Given the description of an element on the screen output the (x, y) to click on. 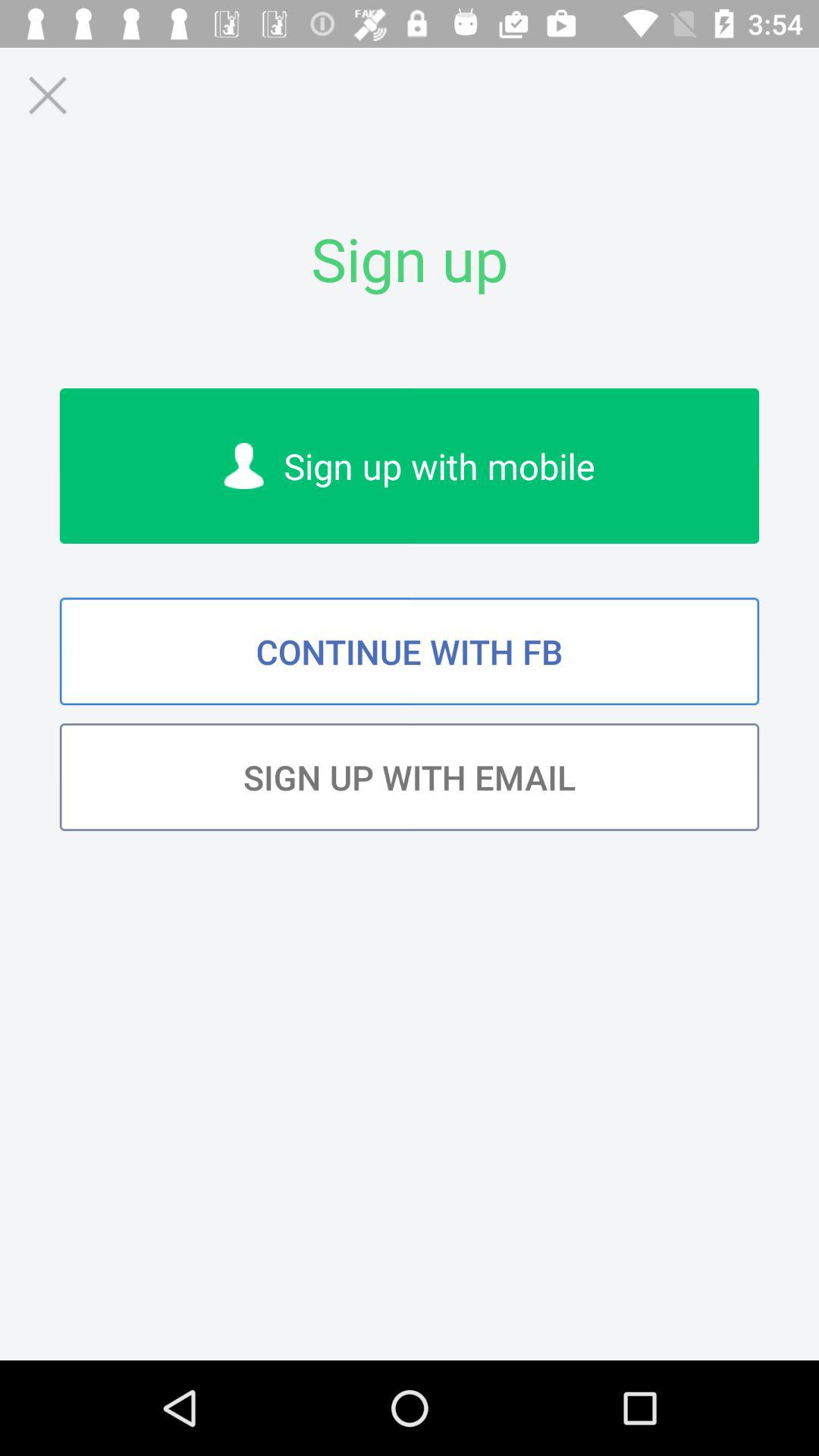
turn on item at the top left corner (47, 95)
